Given the description of an element on the screen output the (x, y) to click on. 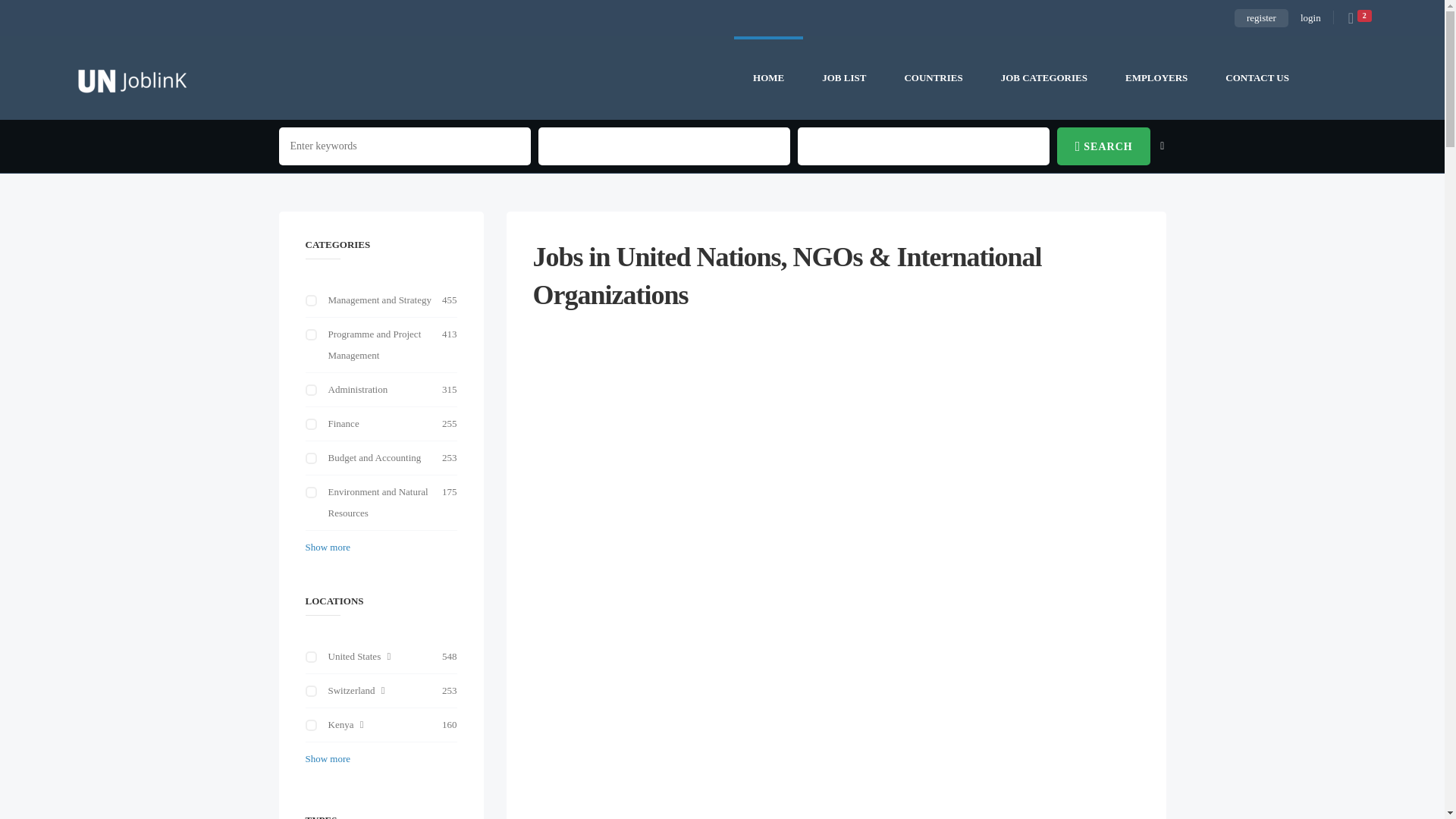
SEARCH (1103, 146)
JOB LIST (844, 77)
login (1310, 18)
Advertisement (835, 689)
COUNTRIES (933, 77)
UNJoblink Careers (132, 77)
JOB CATEGORIES (1043, 77)
register (1261, 18)
CONTACT US (1257, 77)
EMPLOYERS (1156, 77)
